Given the description of an element on the screen output the (x, y) to click on. 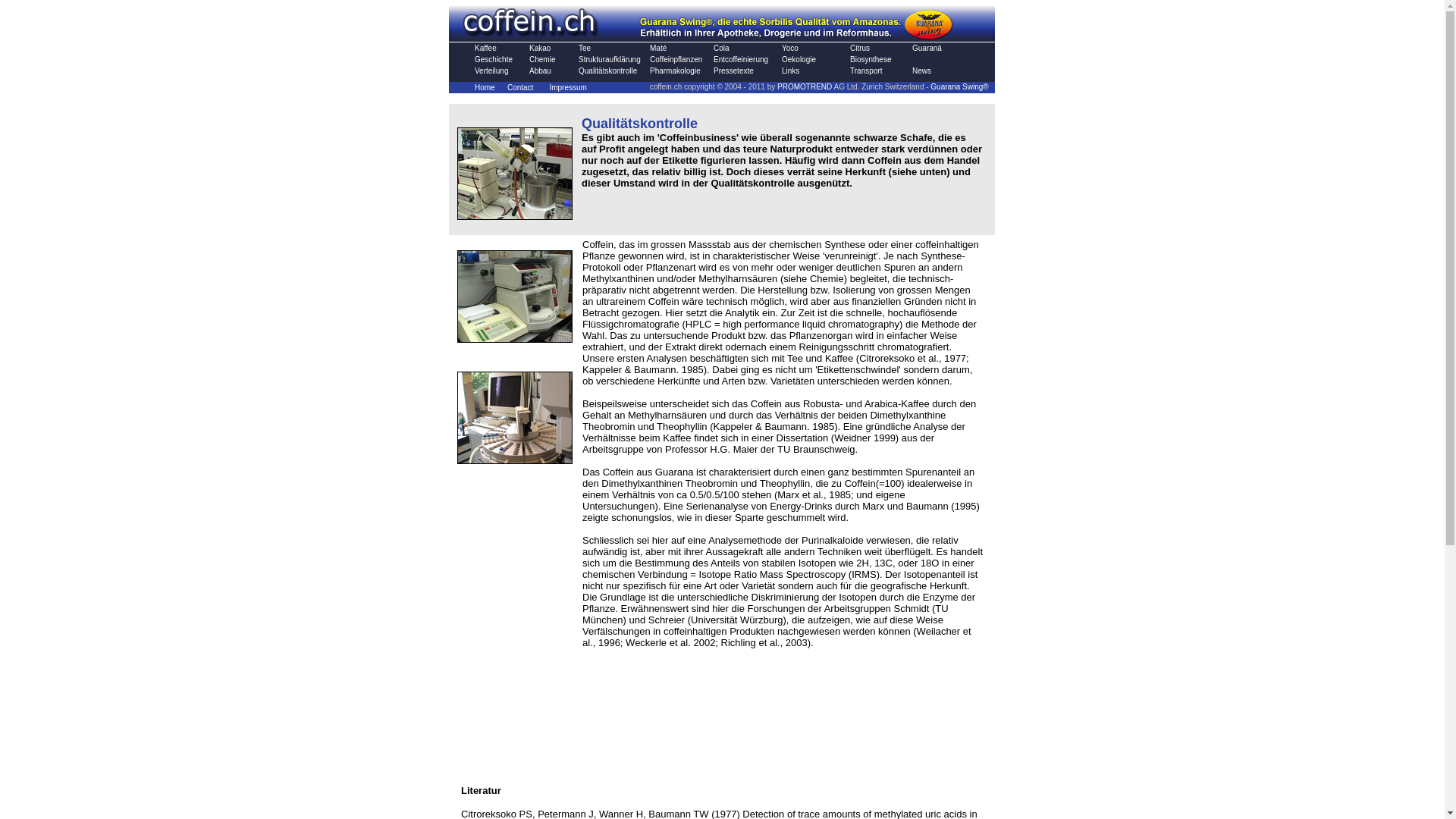
Home Element type: text (484, 87)
Geschichte Element type: text (493, 59)
Kaffee Element type: text (485, 47)
Coffeinpflanzen Element type: text (675, 59)
News Element type: text (921, 70)
Kakao Element type: text (539, 47)
PROMOTREND Element type: text (804, 85)
Citrus Element type: text (859, 47)
Cola Element type: text (721, 47)
Biosynthese Element type: text (870, 59)
Transport Element type: text (865, 70)
Yoco Element type: text (789, 47)
Contact Element type: text (520, 87)
Abbau Element type: text (540, 70)
Chemie Element type: text (542, 59)
Pressetexte Element type: text (733, 70)
Tee Element type: text (584, 47)
Oekologie Element type: text (798, 59)
Verteilung Element type: text (491, 70)
Links Element type: text (790, 70)
Entcoffeinierung Element type: text (740, 59)
Impressum Element type: text (567, 87)
Pharmakologie Element type: text (674, 70)
